Given the description of an element on the screen output the (x, y) to click on. 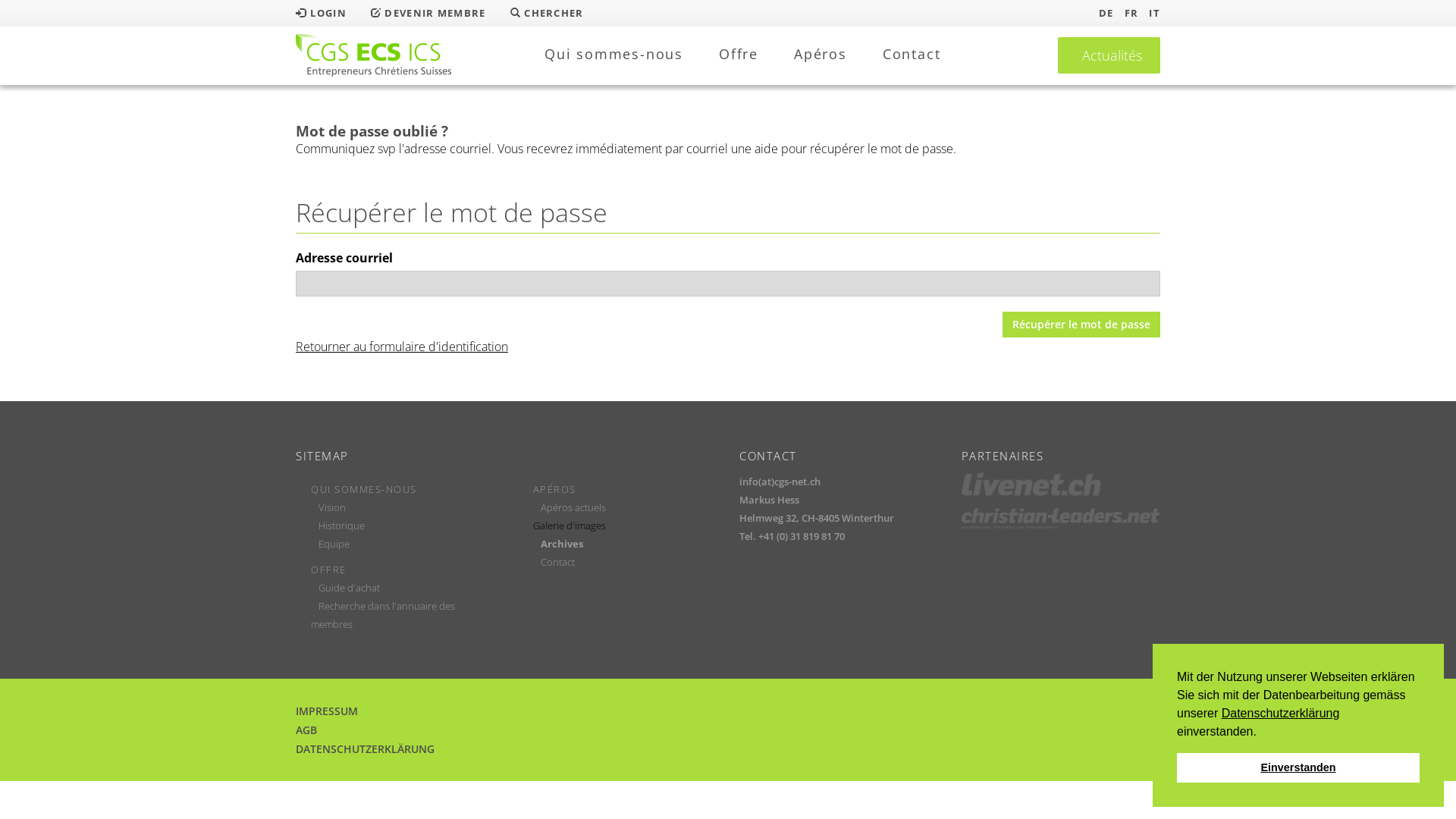
Offre Element type: text (738, 53)
Guide d'achat Element type: text (348, 587)
Contact Element type: text (911, 53)
DEVENIR MEMBRE Element type: text (428, 12)
Einverstanden Element type: text (1297, 767)
OFFRE Element type: text (328, 569)
CHERCHER Element type: text (546, 12)
IT Element type: text (1154, 12)
QUI SOMMES-NOUS Element type: text (363, 488)
Contact Element type: text (556, 561)
IMPRESSUM Element type: text (326, 710)
Historique Element type: text (341, 525)
DE Element type: text (1105, 12)
info(at)cgs-net.ch Element type: text (779, 481)
Equipe Element type: text (333, 543)
FR Element type: text (1131, 12)
AGB Element type: text (305, 729)
LOGIN Element type: text (320, 12)
Retourner au formulaire d'identification Element type: text (401, 346)
Archives Element type: text (560, 543)
Recherche dans l'annuaire des membres Element type: text (382, 614)
Qui sommes-nous Element type: text (613, 53)
Vision Element type: text (331, 507)
